Given the description of an element on the screen output the (x, y) to click on. 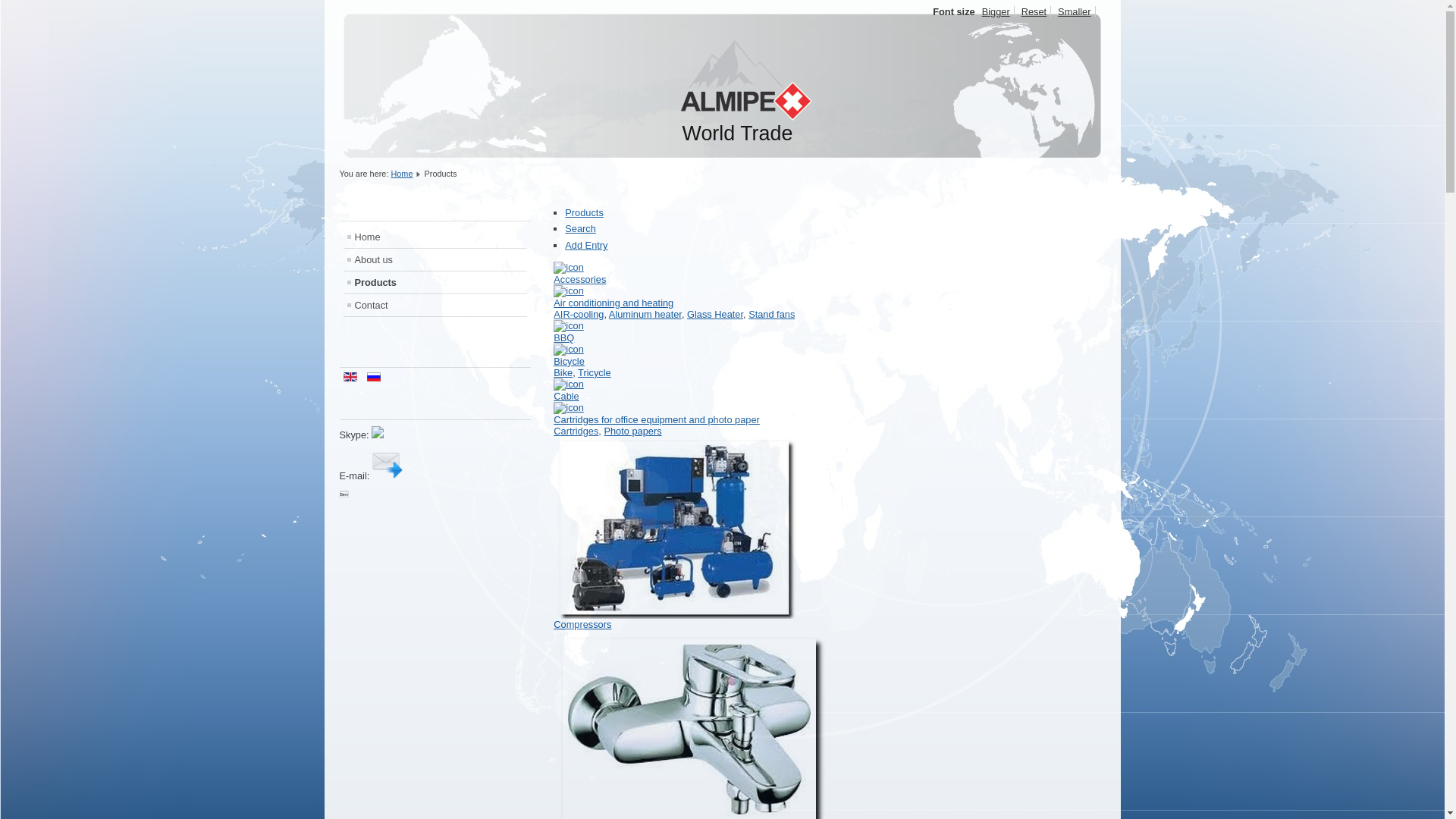
About us Element type: text (434, 259)
Add Entry Element type: text (585, 245)
Accessories Element type: text (579, 279)
Products Element type: text (434, 282)
Home Element type: text (401, 173)
Air conditioning and heating Element type: text (613, 302)
Cartridges Element type: text (575, 430)
Russian Element type: hover (373, 376)
BBQ Element type: text (563, 337)
Reset Element type: text (1034, 11)
Cartridges for office equipment and photo paper Element type: text (656, 419)
Tricycle Element type: text (594, 372)
Bike Element type: text (562, 372)
Bern Element type: text (343, 494)
Search Element type: text (580, 228)
English (UK) Element type: hover (349, 376)
Bicycle Element type: text (568, 361)
Products Element type: text (583, 212)
Stand fans Element type: text (771, 314)
AIR-cooling Element type: text (578, 314)
Cable Element type: text (565, 395)
Smaller Element type: text (1074, 11)
Glass Heater Element type: text (715, 314)
Bigger Element type: text (996, 11)
Photo papers Element type: text (632, 430)
Home Element type: text (434, 236)
Compressors Element type: text (582, 624)
Aluminum heater Element type: text (644, 314)
Contact Element type: text (434, 305)
